Given the description of an element on the screen output the (x, y) to click on. 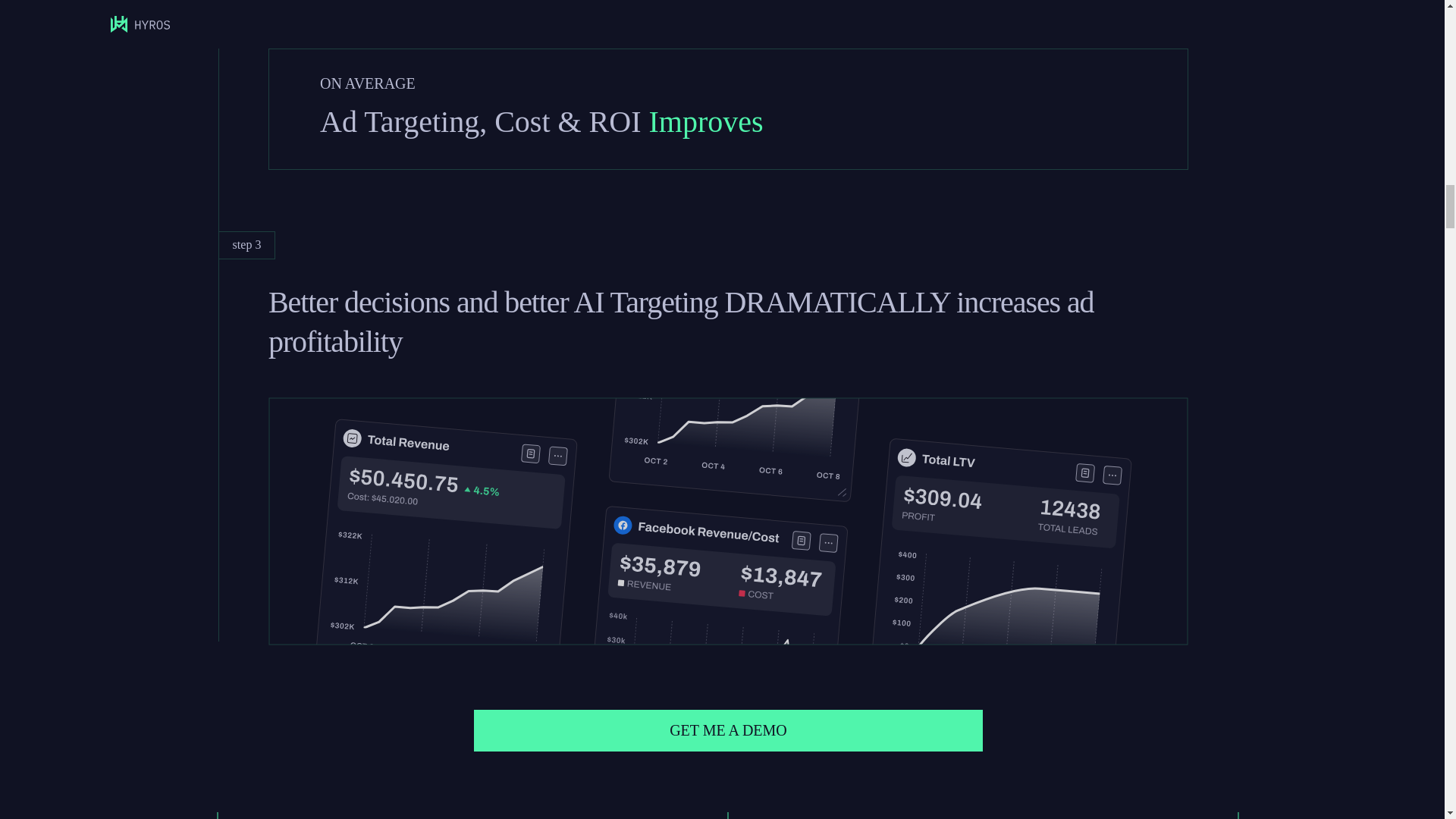
GET ME A DEMO (729, 730)
